Given the description of an element on the screen output the (x, y) to click on. 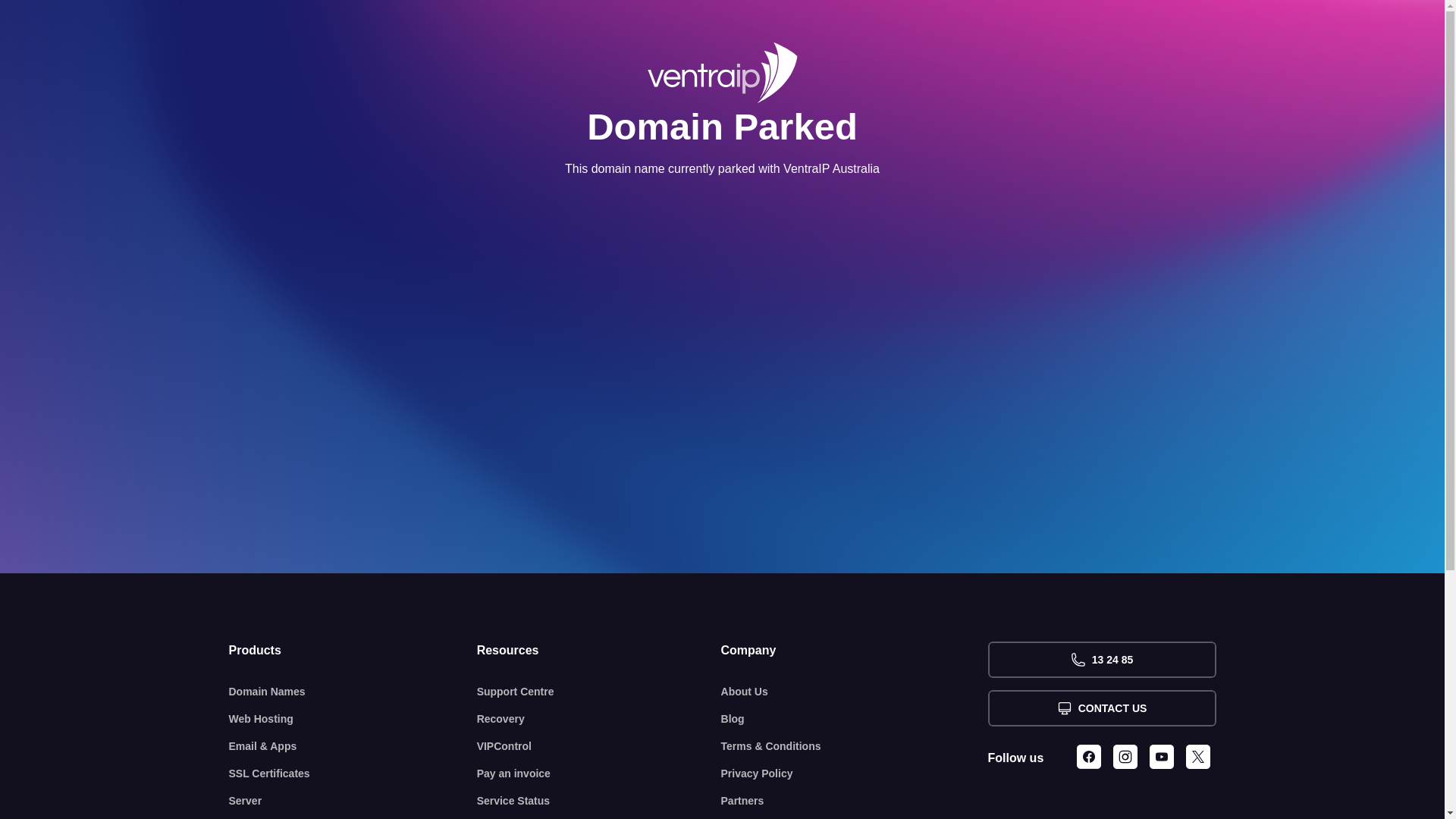
Privacy Policy Element type: text (854, 773)
Web Hosting Element type: text (352, 718)
Terms & Conditions Element type: text (854, 745)
Service Status Element type: text (598, 800)
Partners Element type: text (854, 800)
Email & Apps Element type: text (352, 745)
SSL Certificates Element type: text (352, 773)
CONTACT US Element type: text (1101, 708)
13 24 85 Element type: text (1101, 659)
Recovery Element type: text (598, 718)
Domain Names Element type: text (352, 691)
Server Element type: text (352, 800)
Pay an invoice Element type: text (598, 773)
Support Centre Element type: text (598, 691)
About Us Element type: text (854, 691)
VIPControl Element type: text (598, 745)
Blog Element type: text (854, 718)
